Given the description of an element on the screen output the (x, y) to click on. 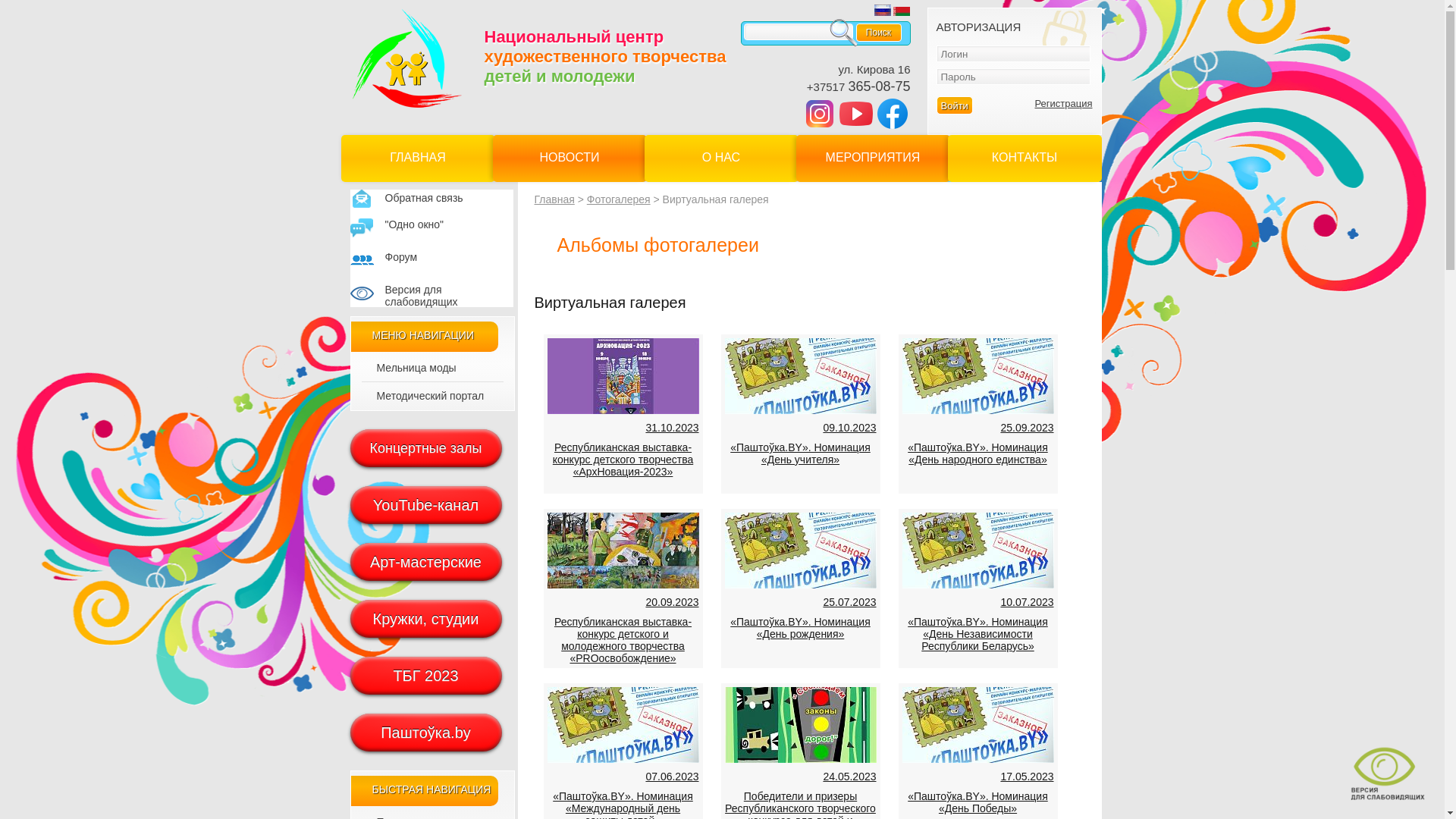
+37517 365-08-75 Element type: text (858, 86)
